Given the description of an element on the screen output the (x, y) to click on. 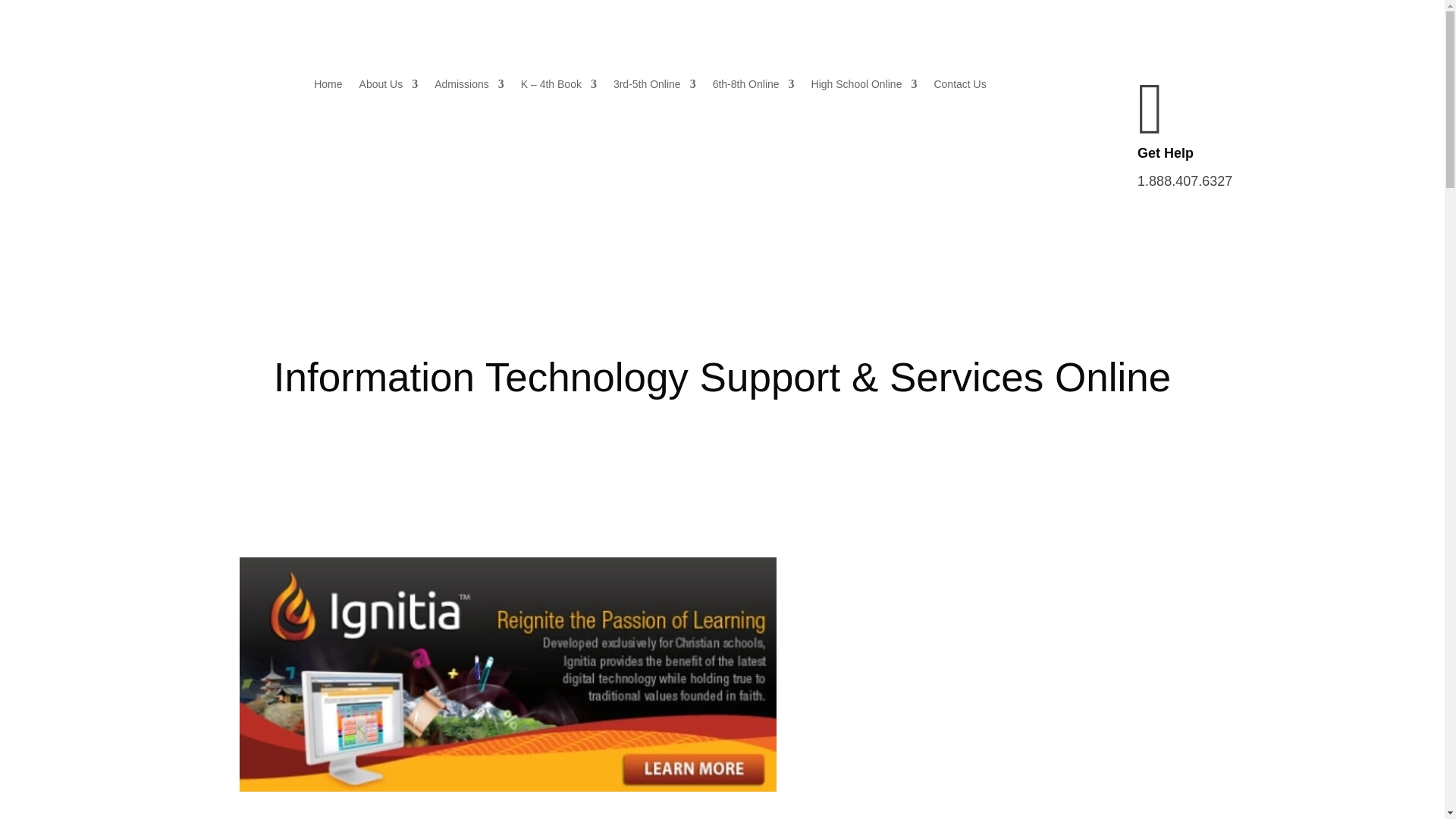
About Us (389, 86)
Admissions (468, 86)
3rd-5th Online (653, 86)
Home (328, 86)
ignitia-img (506, 674)
